Given the description of an element on the screen output the (x, y) to click on. 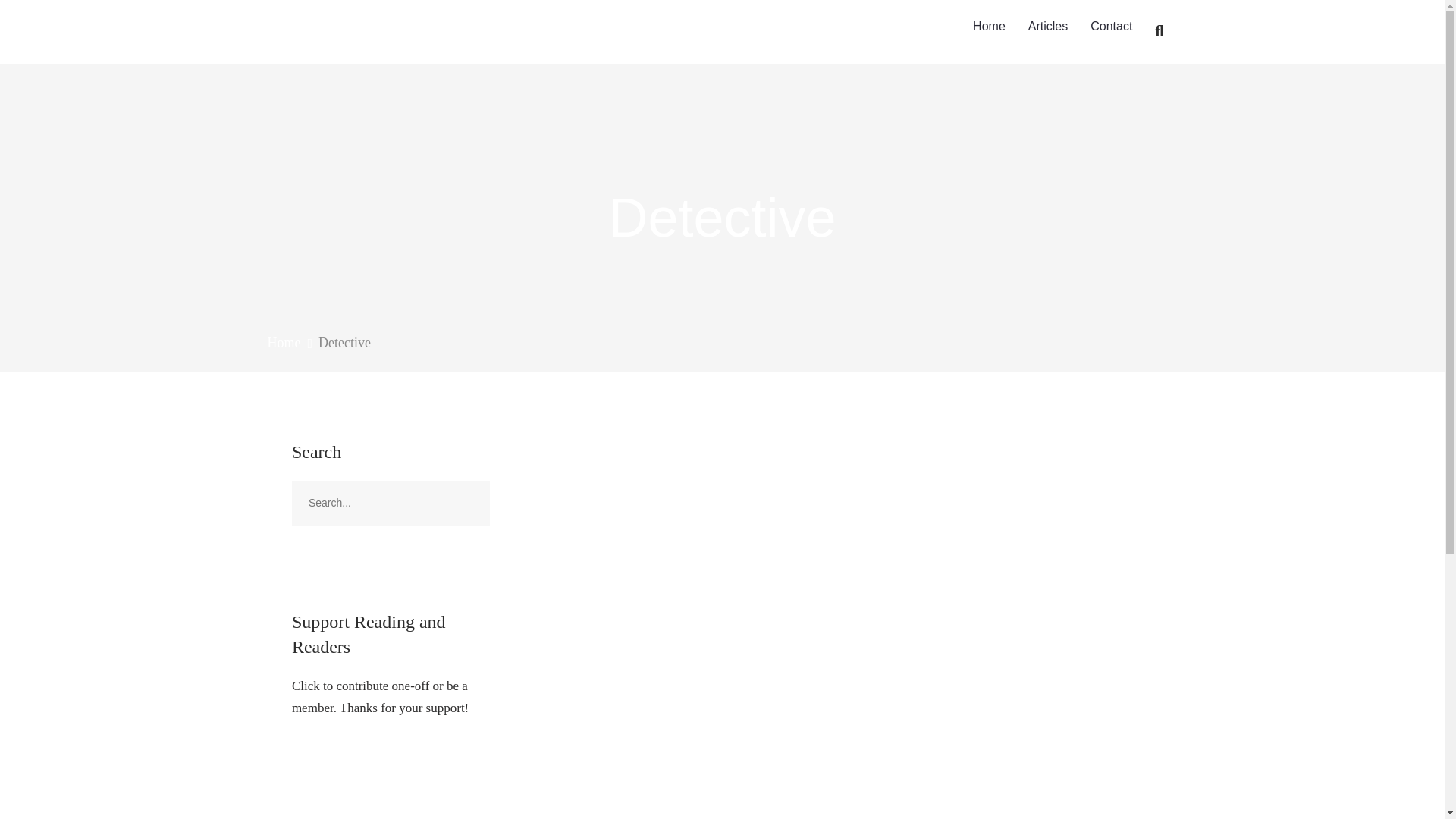
Home (988, 26)
Submit (31, 22)
Submit (29, 20)
Home (282, 342)
Articles (1047, 26)
Contact (1110, 26)
